Given the description of an element on the screen output the (x, y) to click on. 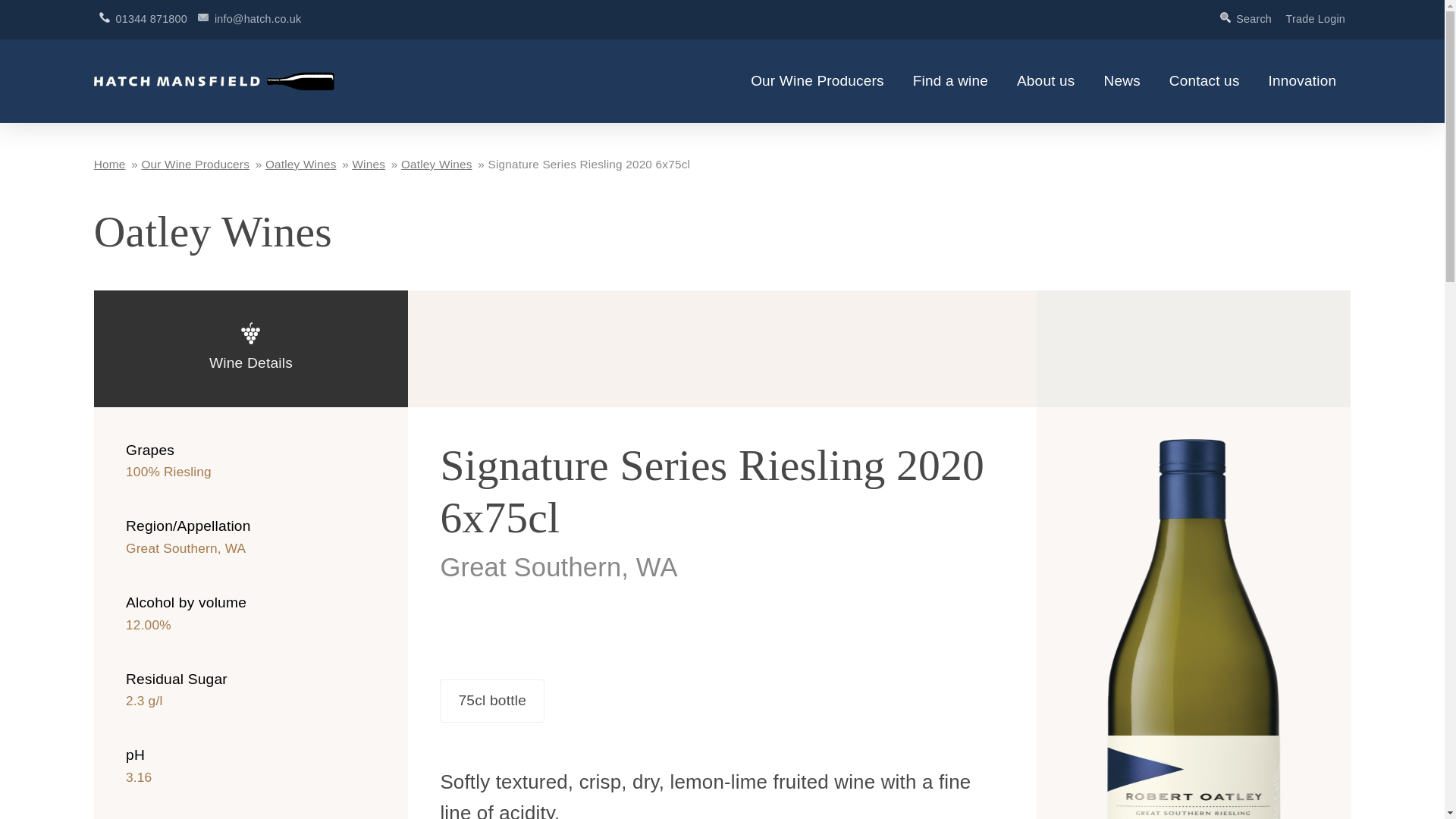
Oatley Wines (300, 164)
01344 871800 (143, 18)
Trade Login (1315, 18)
Find a wine (950, 81)
News (1121, 81)
Innovation (1302, 81)
Our Wine Producers (194, 164)
Oatley Wines (436, 164)
Contact us (1203, 81)
Our Wine Producers (817, 81)
